Given the description of an element on the screen output the (x, y) to click on. 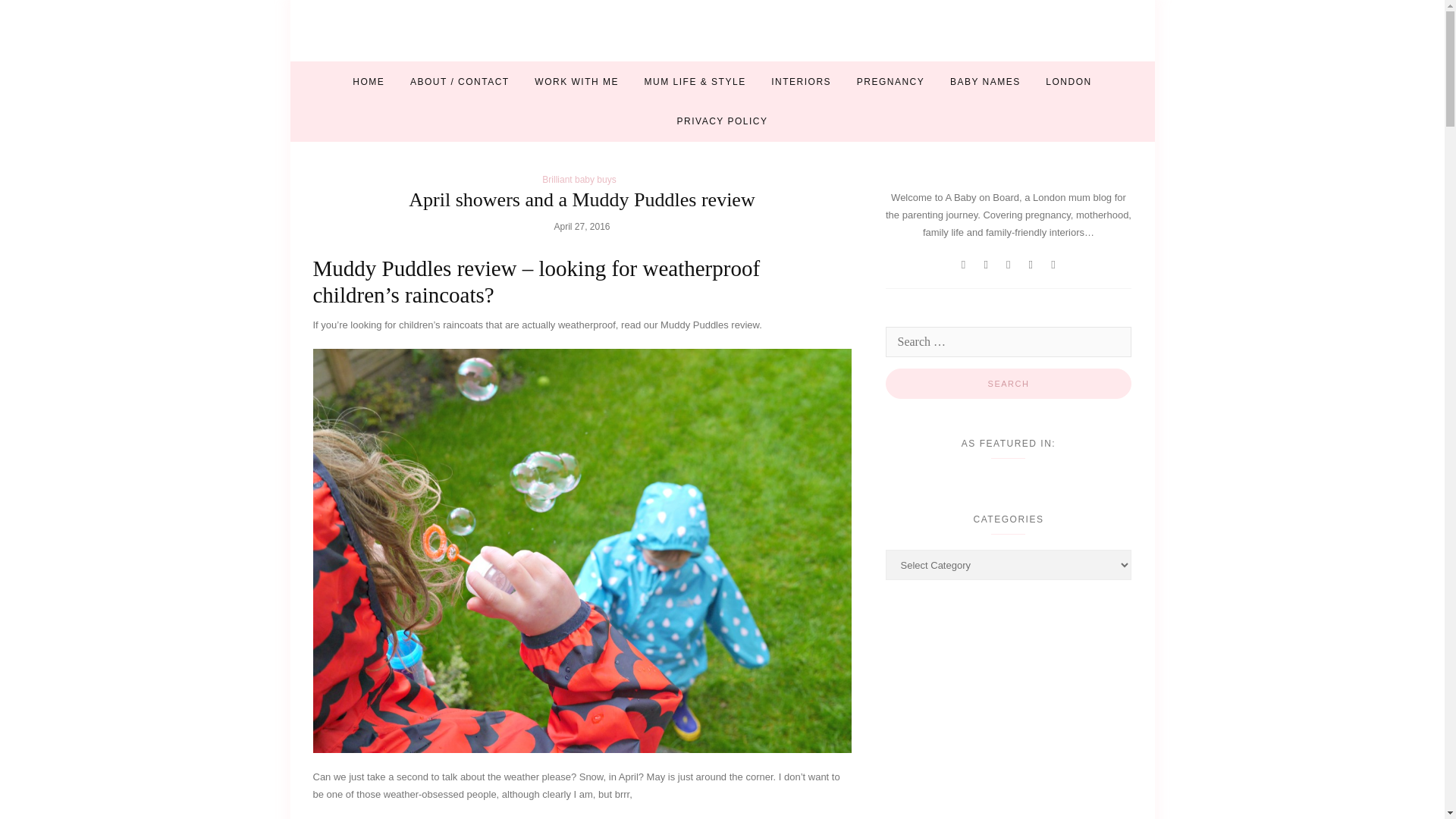
INTERIORS (801, 81)
PRIVACY POLICY (722, 120)
Brilliant baby buys (578, 179)
WORK WITH ME (576, 81)
